Given the description of an element on the screen output the (x, y) to click on. 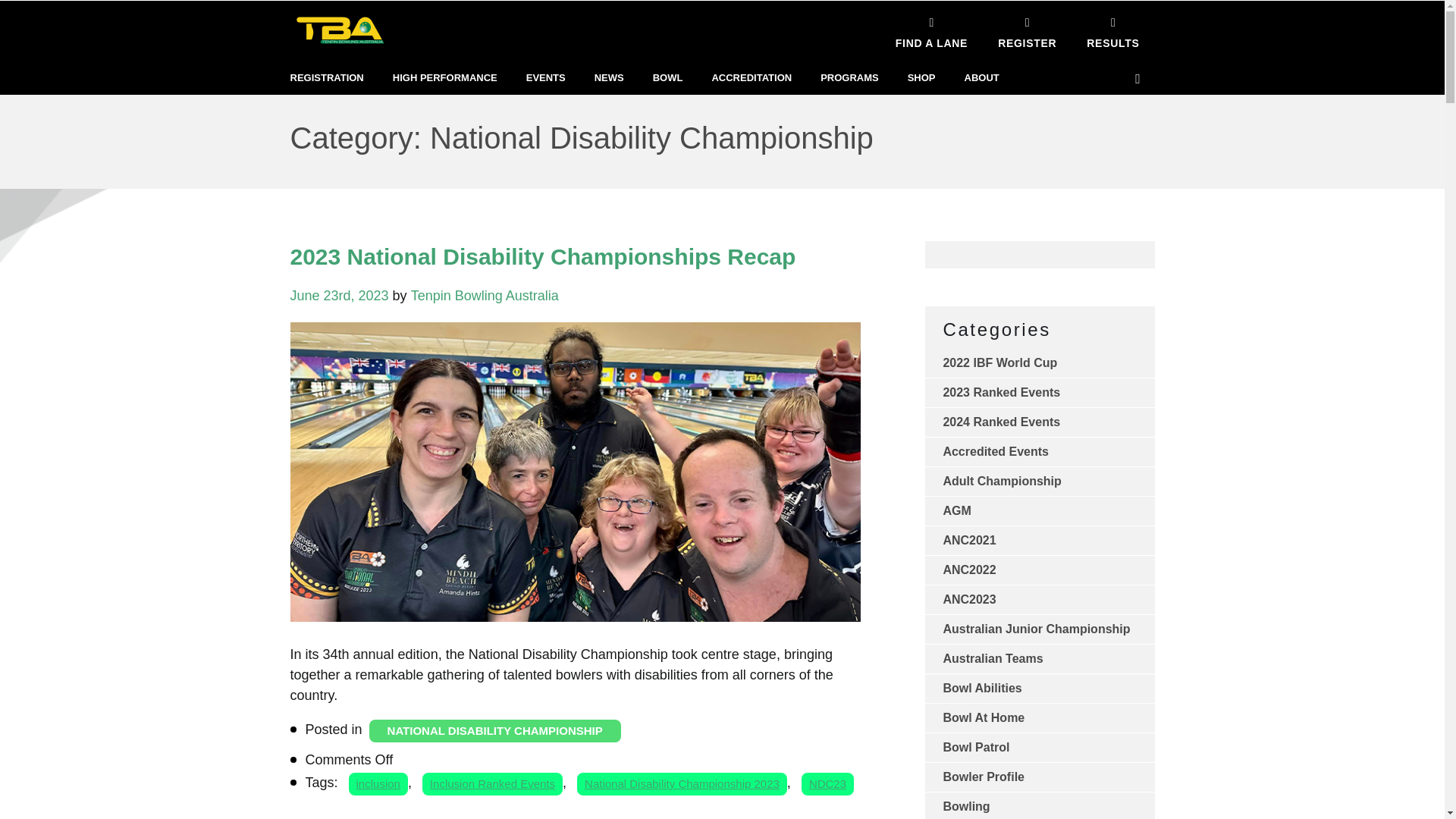
REGISTRATION (325, 78)
REGISTER (1026, 30)
FIND A LANE (931, 30)
HIGH PERFORMANCE (445, 78)
EVENTS (545, 78)
RESULTS (1112, 30)
BOWL (667, 78)
